Given the description of an element on the screen output the (x, y) to click on. 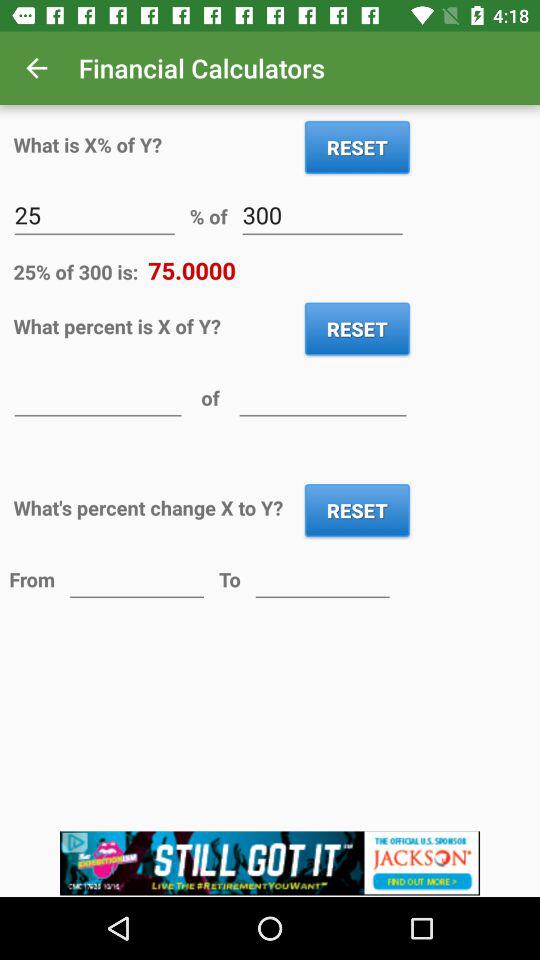
final value after the change (322, 578)
